Given the description of an element on the screen output the (x, y) to click on. 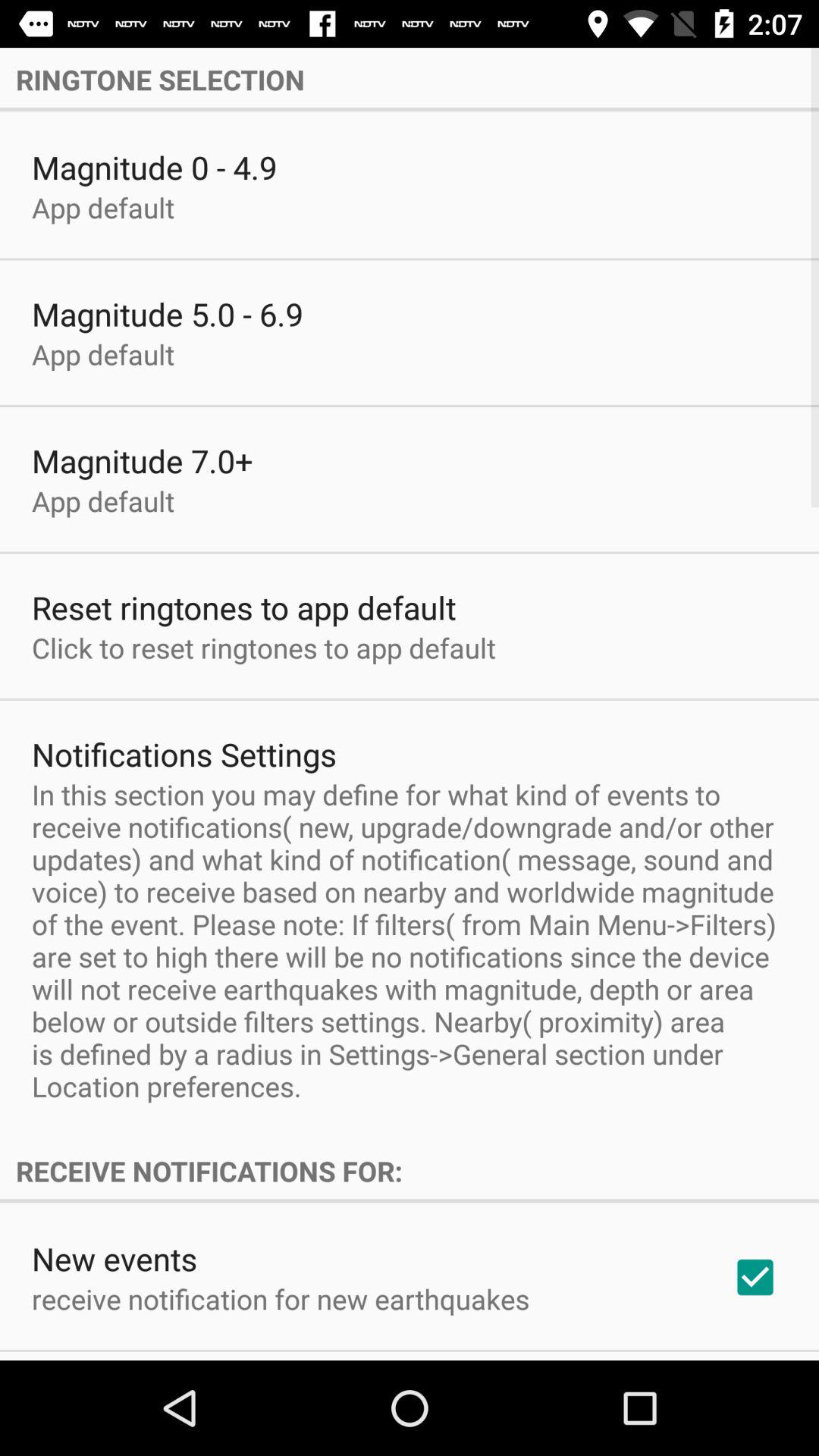
press the in this section app (409, 940)
